Given the description of an element on the screen output the (x, y) to click on. 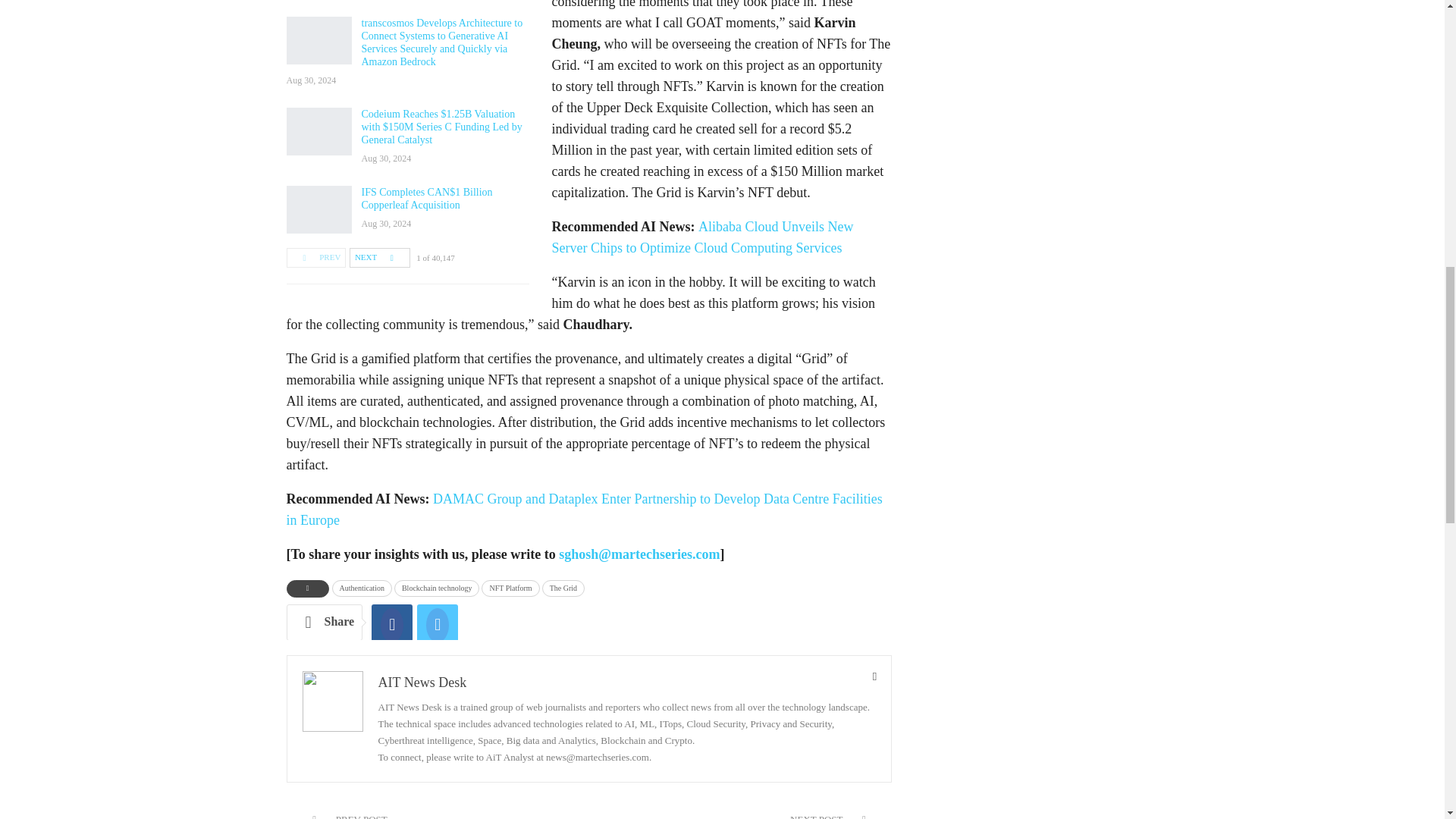
PREV (316, 257)
NEXT (379, 257)
Next (379, 257)
Previous (316, 257)
